Given the description of an element on the screen output the (x, y) to click on. 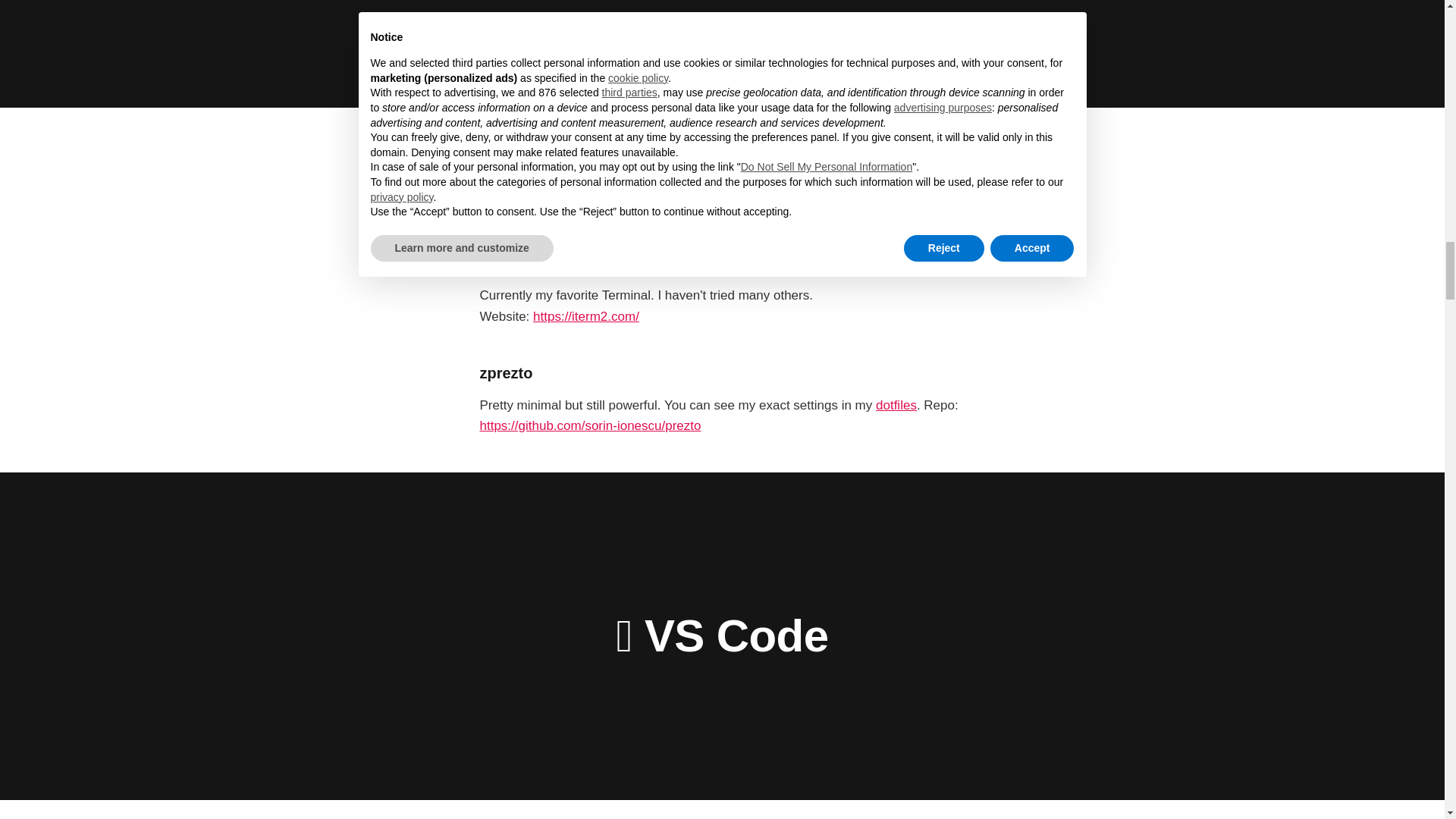
Check them out on GitHub (554, 206)
dotfiles (896, 405)
